Given the description of an element on the screen output the (x, y) to click on. 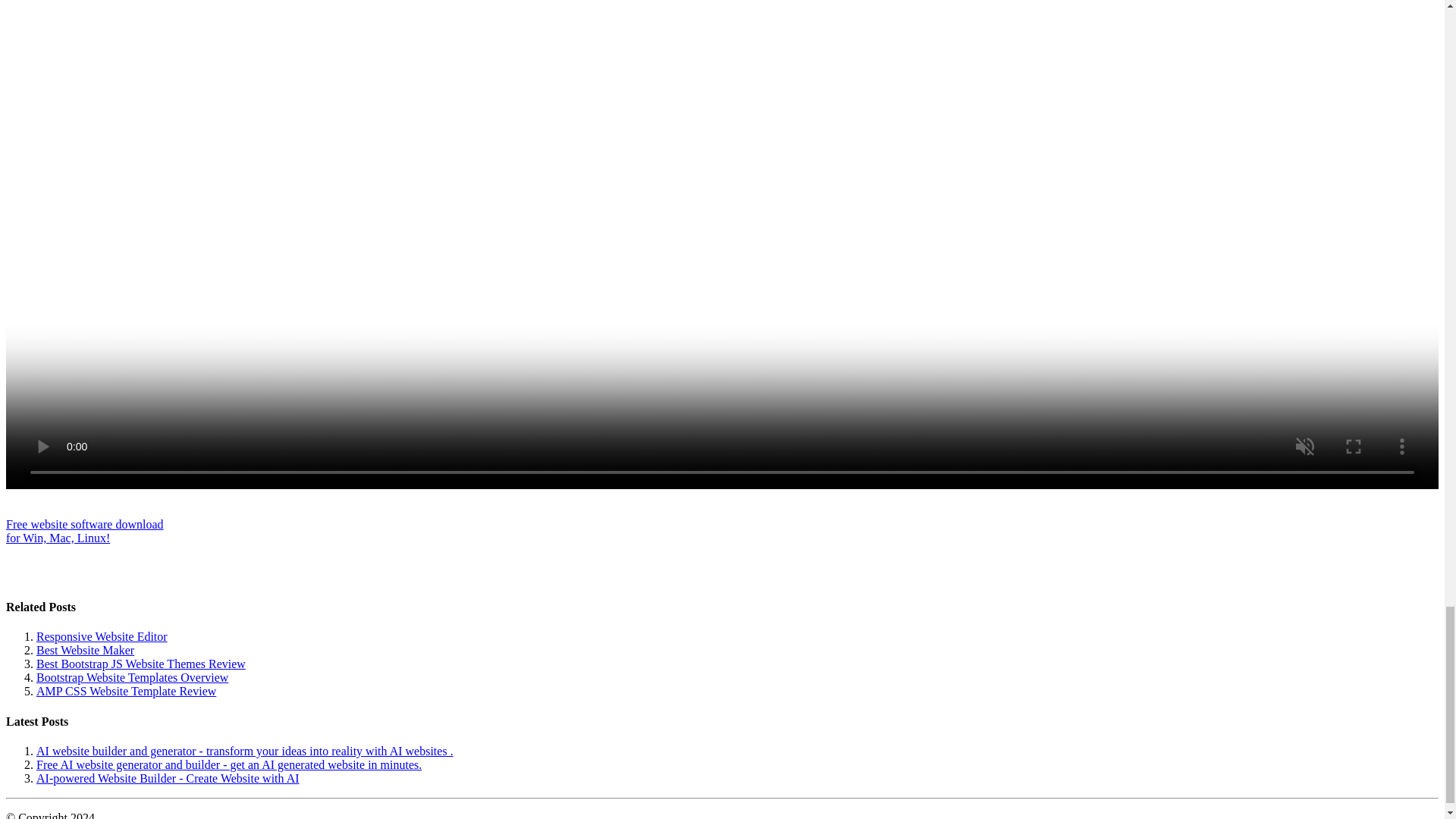
Responsive Website Editor (101, 635)
Best Website Maker (84, 649)
Bootstrap Website Templates Overview (132, 676)
AMP CSS Website Template Review (125, 690)
AI-powered Website Builder - Create Website with AI (167, 778)
Best Bootstrap JS Website Themes Review (84, 530)
